Given the description of an element on the screen output the (x, y) to click on. 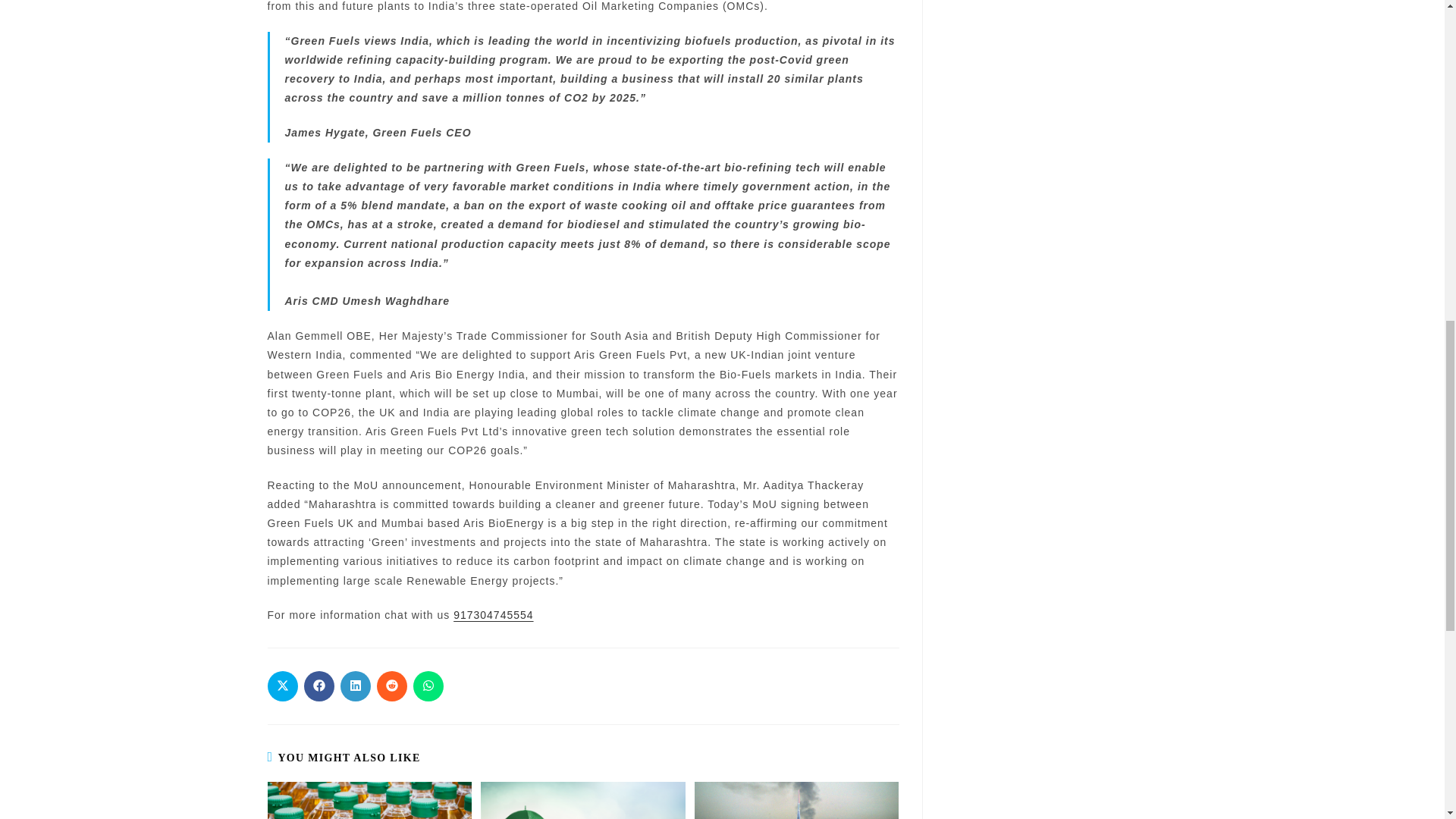
917304745554 (492, 614)
